Given the description of an element on the screen output the (x, y) to click on. 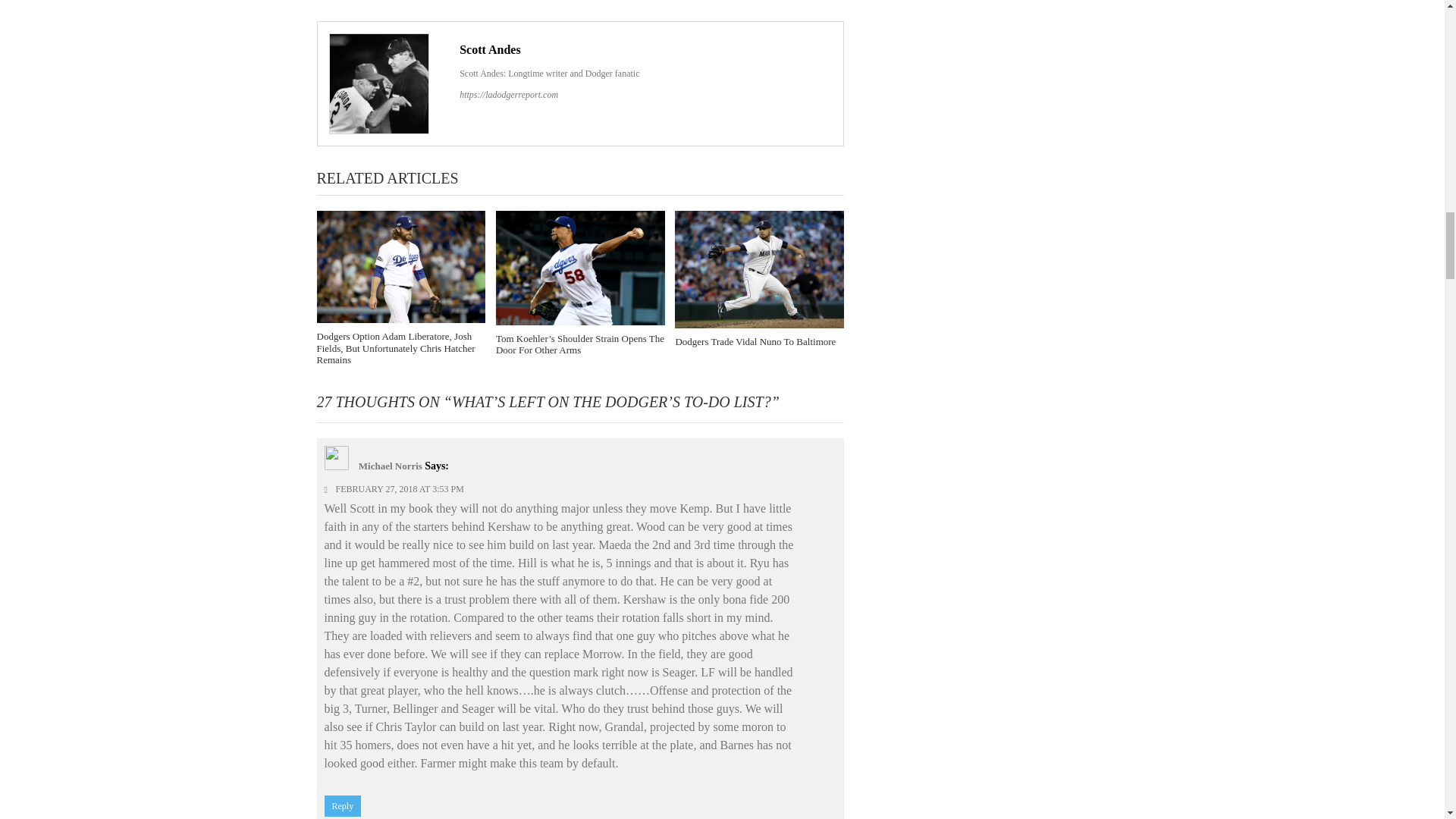
Dodgers Trade Vidal Nuno To Baltimore (759, 269)
